Given the description of an element on the screen output the (x, y) to click on. 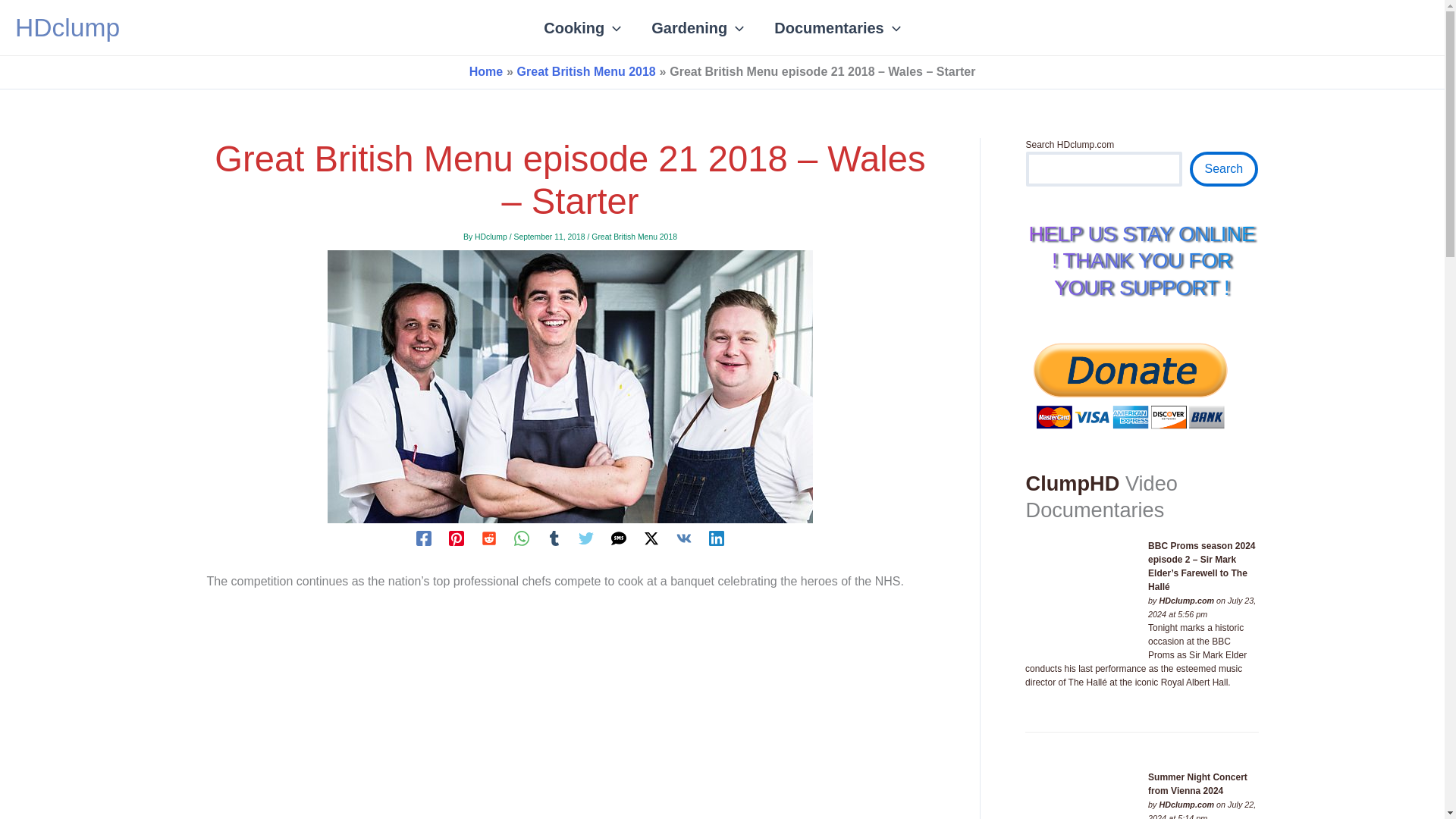
Advertisement (569, 710)
Cooking (582, 27)
clumphd.com (1186, 600)
Summer Night Concert from Vienna 2024 (1081, 796)
HDclump (66, 27)
View all posts by HDclump (491, 236)
PayPal - The safer, easier way to pay online! (1129, 383)
